Given the description of an element on the screen output the (x, y) to click on. 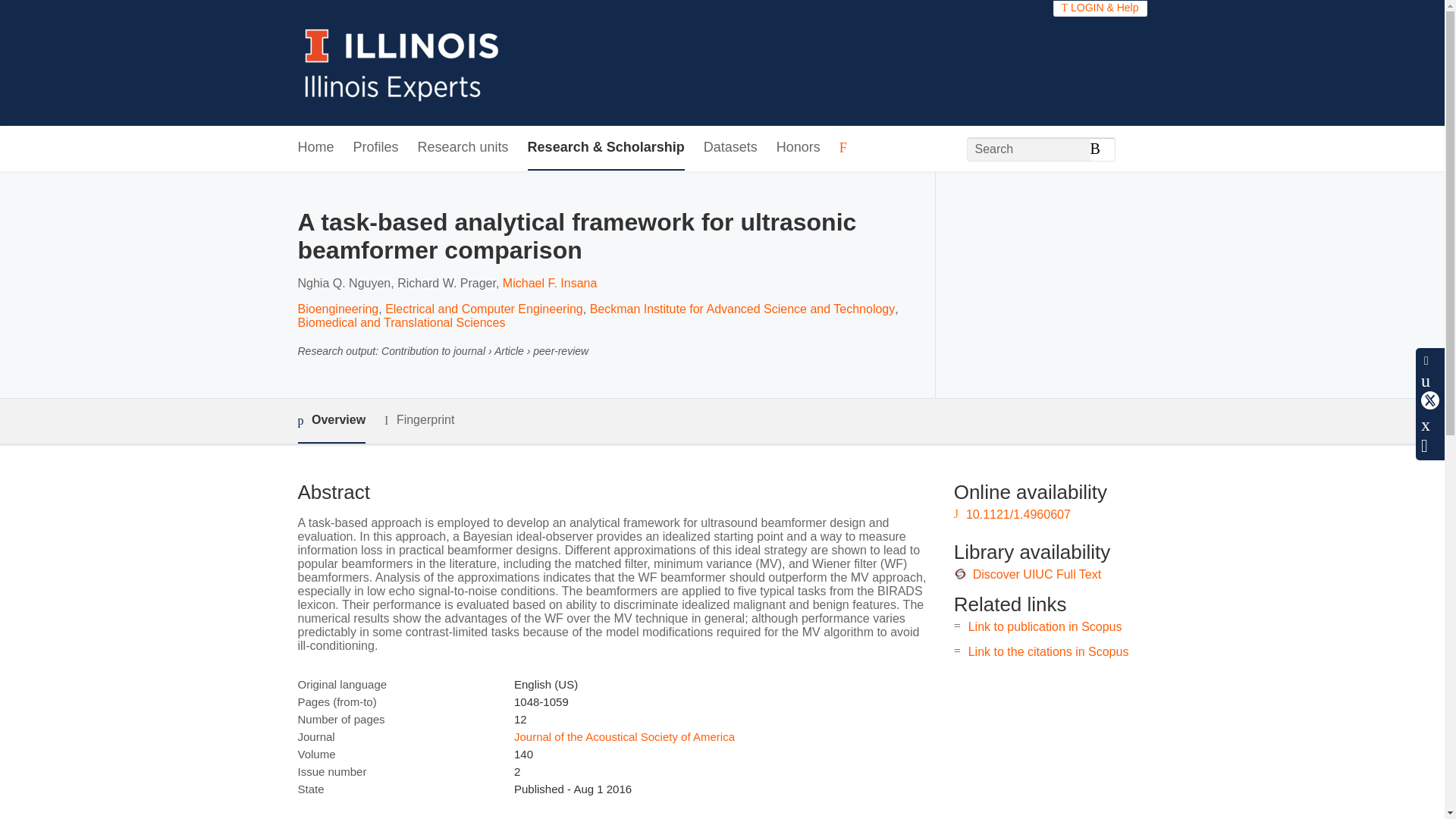
Biomedical and Translational Sciences (401, 322)
Profiles (375, 148)
Beckman Institute for Advanced Science and Technology (742, 308)
Honors (798, 148)
Michael F. Insana (549, 282)
Fingerprint (419, 420)
University of Illinois Urbana-Champaign Home (402, 62)
Link to publication in Scopus (1045, 626)
Bioengineering (337, 308)
Discover UIUC Full Text (1037, 574)
Journal of the Acoustical Society of America (624, 736)
Research units (462, 148)
Overview (331, 420)
Electrical and Computer Engineering (484, 308)
